Given the description of an element on the screen output the (x, y) to click on. 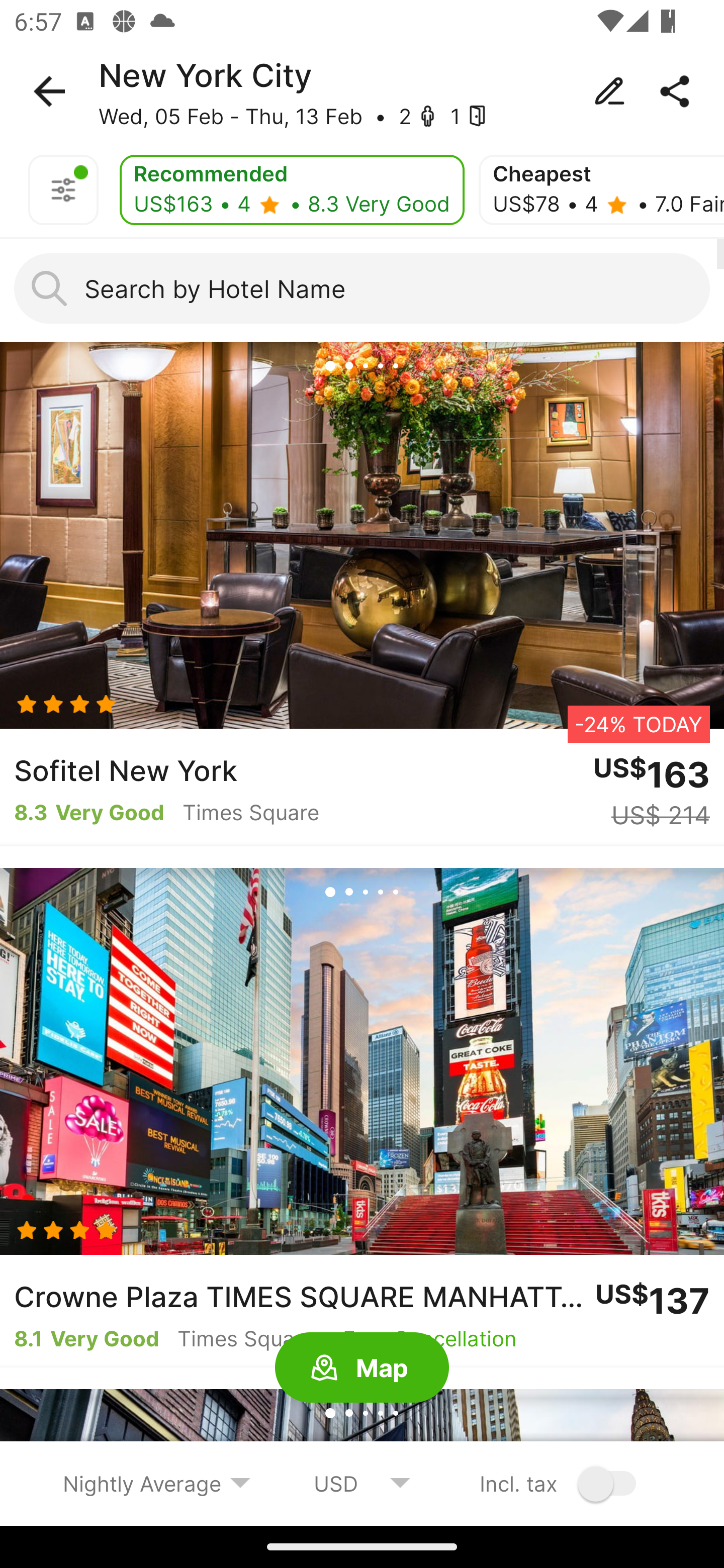
Recommended  US$163  • 4 - • 8.3 Very Good (291, 190)
Cheapest US$78  • 4 - • 7.0 Fair (601, 190)
Search by Hotel Name  (361, 288)
Map  (361, 1367)
Nightly Average (156, 1482)
USD (361, 1482)
